Given the description of an element on the screen output the (x, y) to click on. 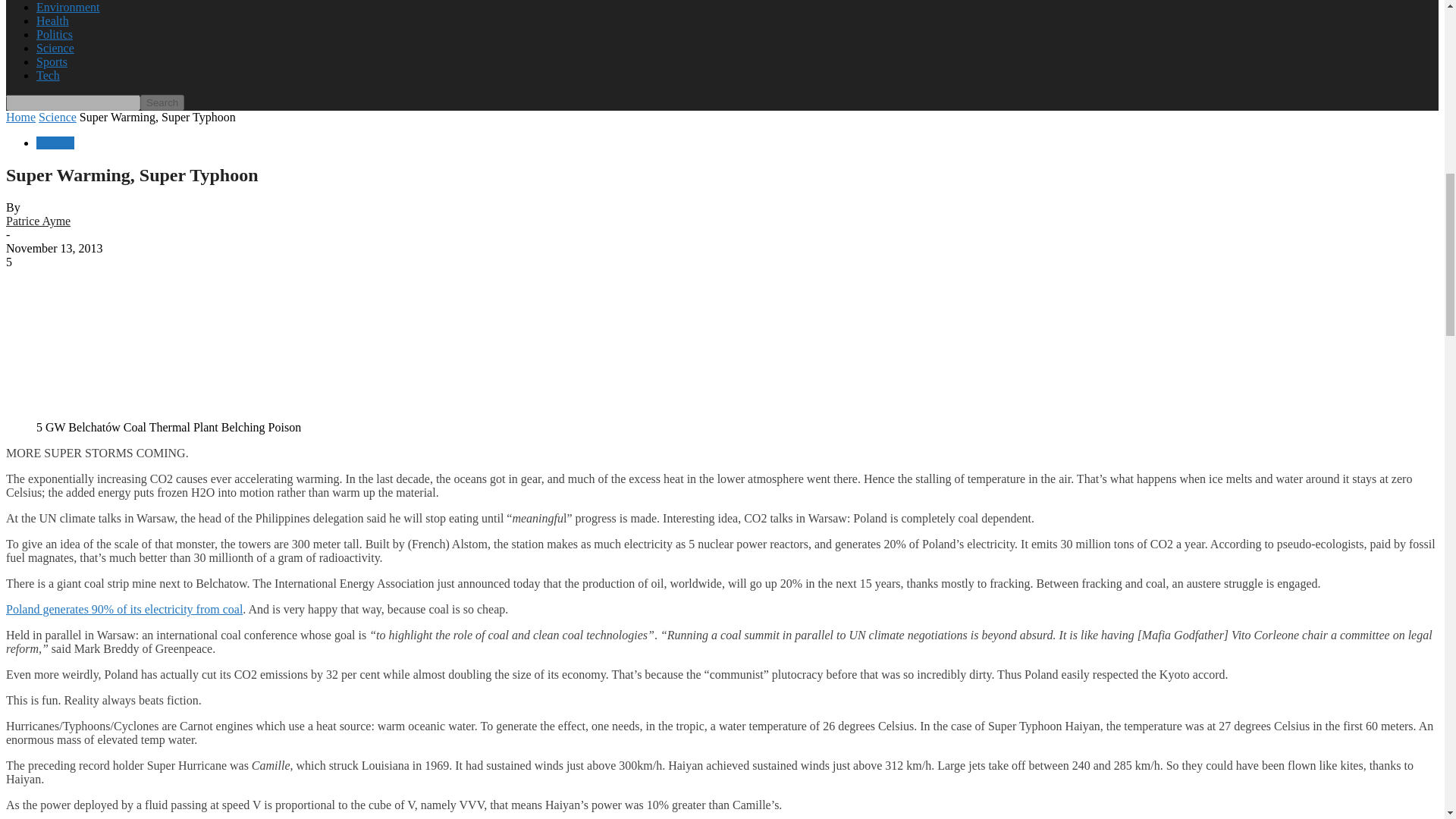
Politics (54, 33)
Tech (47, 74)
Search (161, 102)
Health (52, 20)
coal-poland-5-gw (142, 413)
Sports (51, 61)
Science (55, 47)
Home (19, 116)
Search (161, 102)
View all posts in Science (58, 116)
Environment (68, 6)
